Given the description of an element on the screen output the (x, y) to click on. 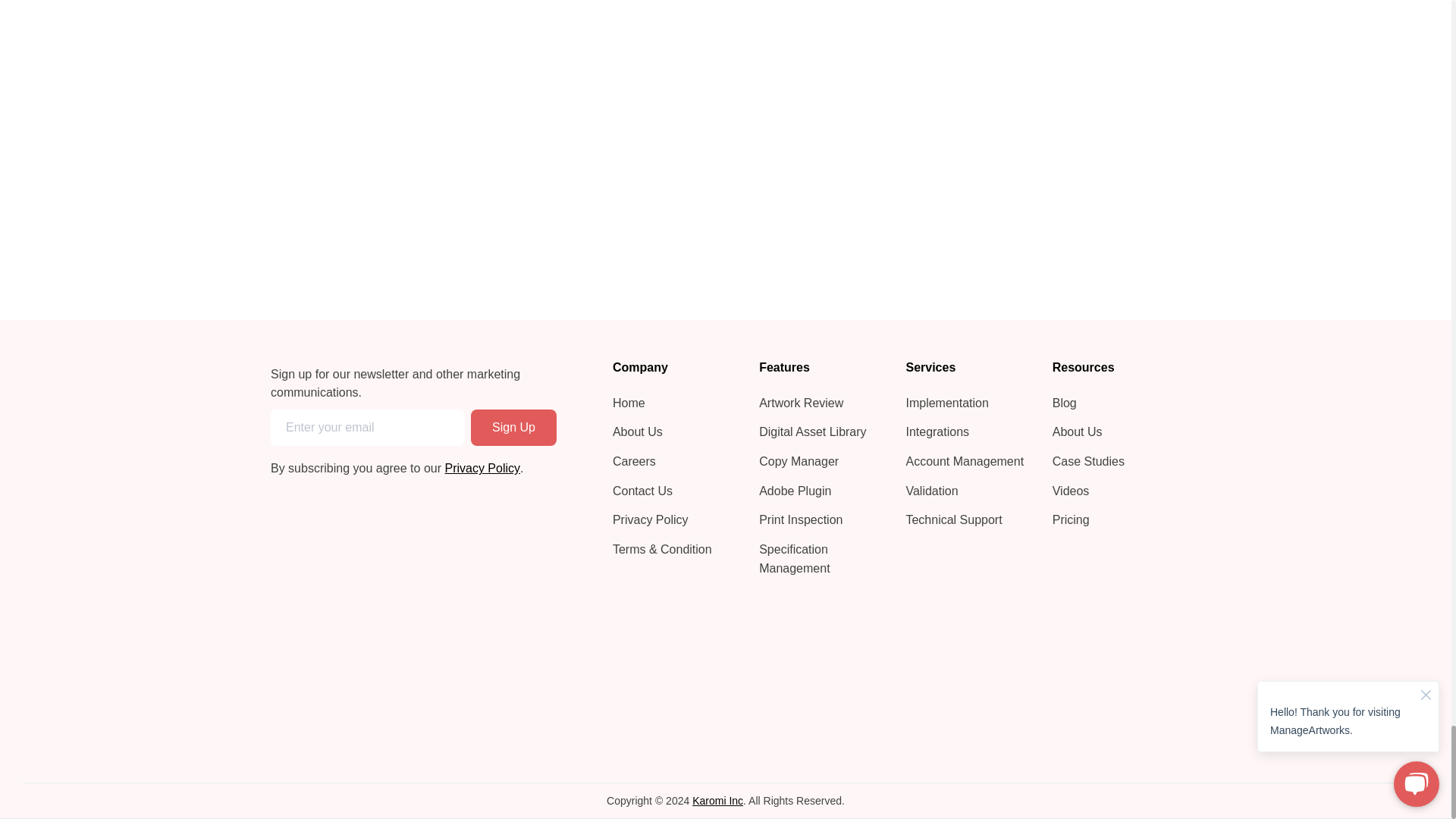
Sign Up (513, 427)
